Given the description of an element on the screen output the (x, y) to click on. 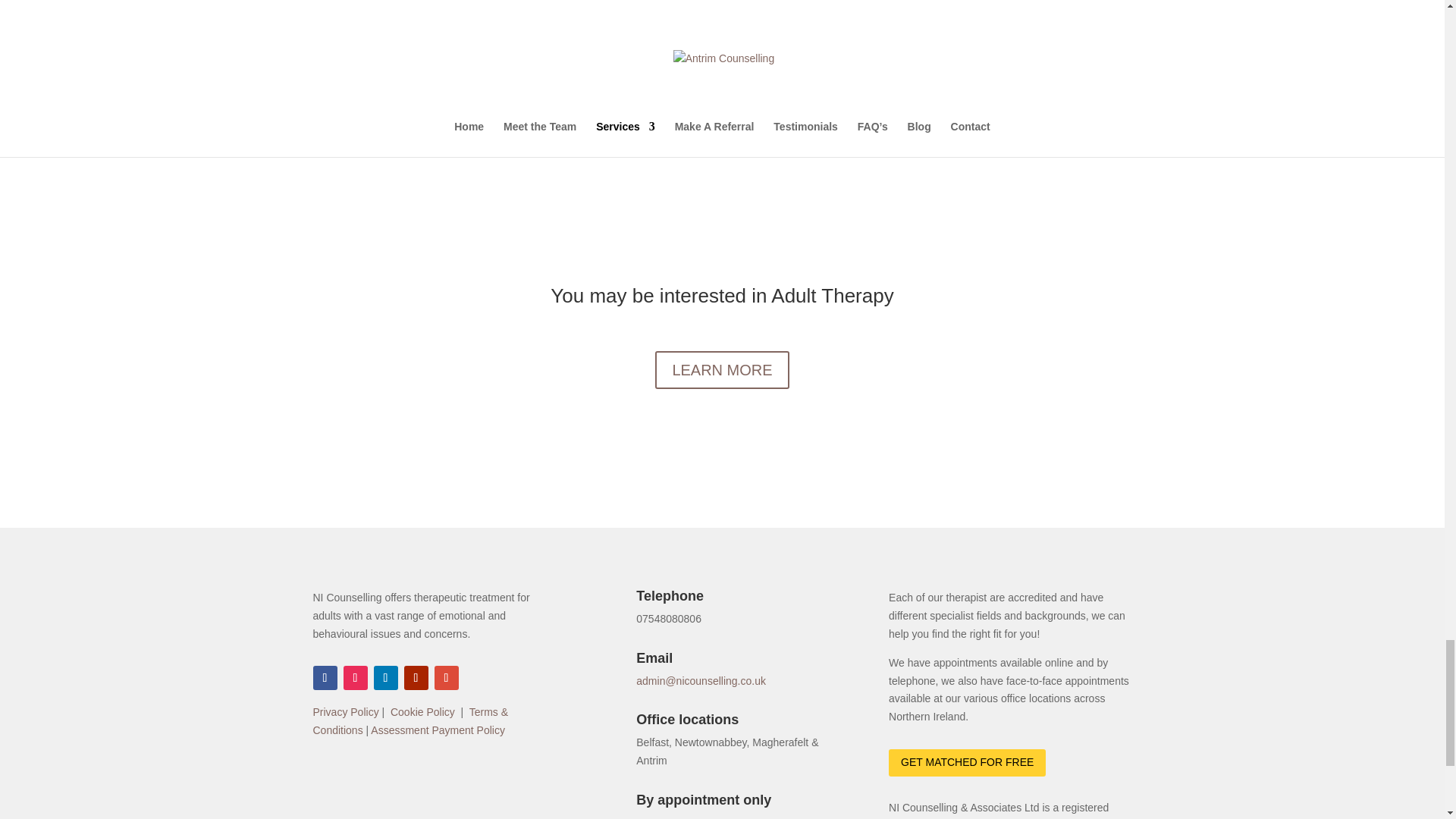
Follow on Instagram (354, 677)
GET MATCHED FOR FREE (966, 762)
Cookie Policy (422, 711)
Follow on Facebook (324, 677)
Privacy Policy (345, 711)
Assessment Payment Policy (438, 729)
Follow on LinkedIn (384, 677)
Follow on Youtube (415, 677)
LEARN MORE (722, 370)
Follow on google-plus (445, 677)
